Given the description of an element on the screen output the (x, y) to click on. 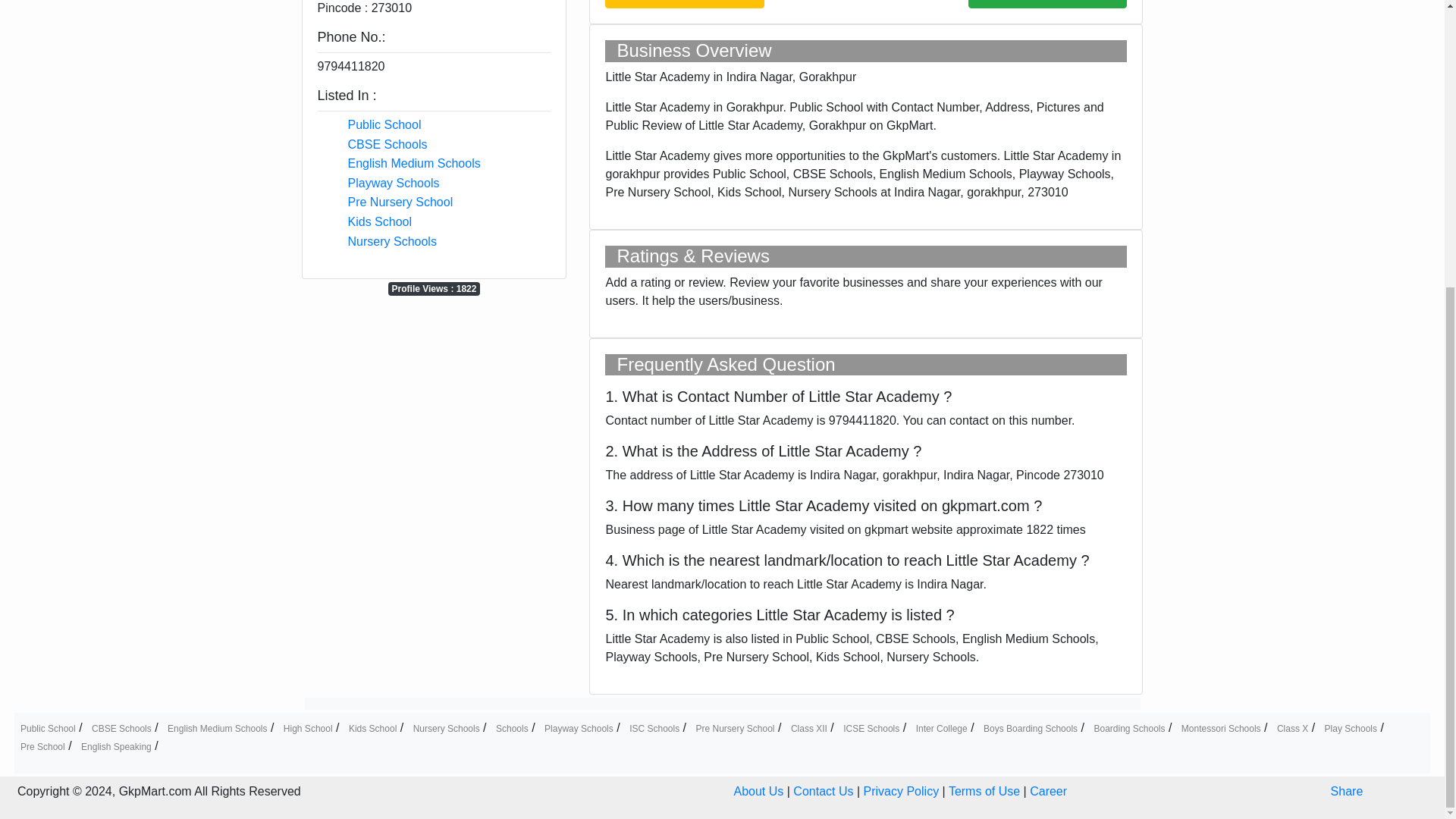
Public School (383, 124)
Playway Schools (578, 728)
Inter College (941, 728)
Schools (512, 728)
English Medium Schools (216, 728)
English Medium Schools (413, 163)
High School (308, 728)
English Speaking (116, 747)
Nursery Schools (446, 728)
Boarding Schools (1128, 728)
Write a Review (683, 4)
Boys Boarding Schools (1030, 728)
Pre School (42, 747)
Contact Me (1047, 4)
Class X (1291, 728)
